Given the description of an element on the screen output the (x, y) to click on. 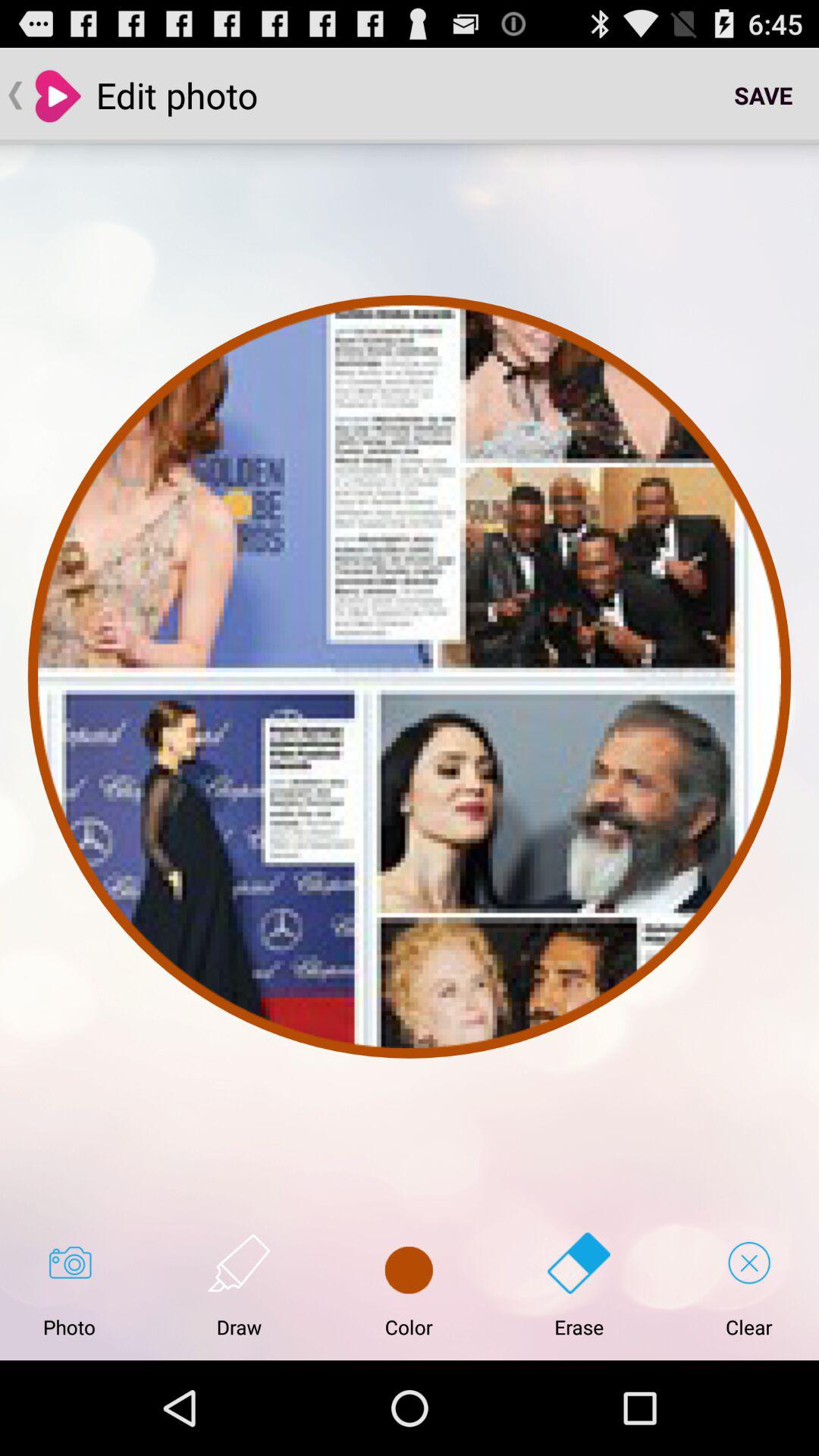
select color at the bottom (408, 1285)
